Given the description of an element on the screen output the (x, y) to click on. 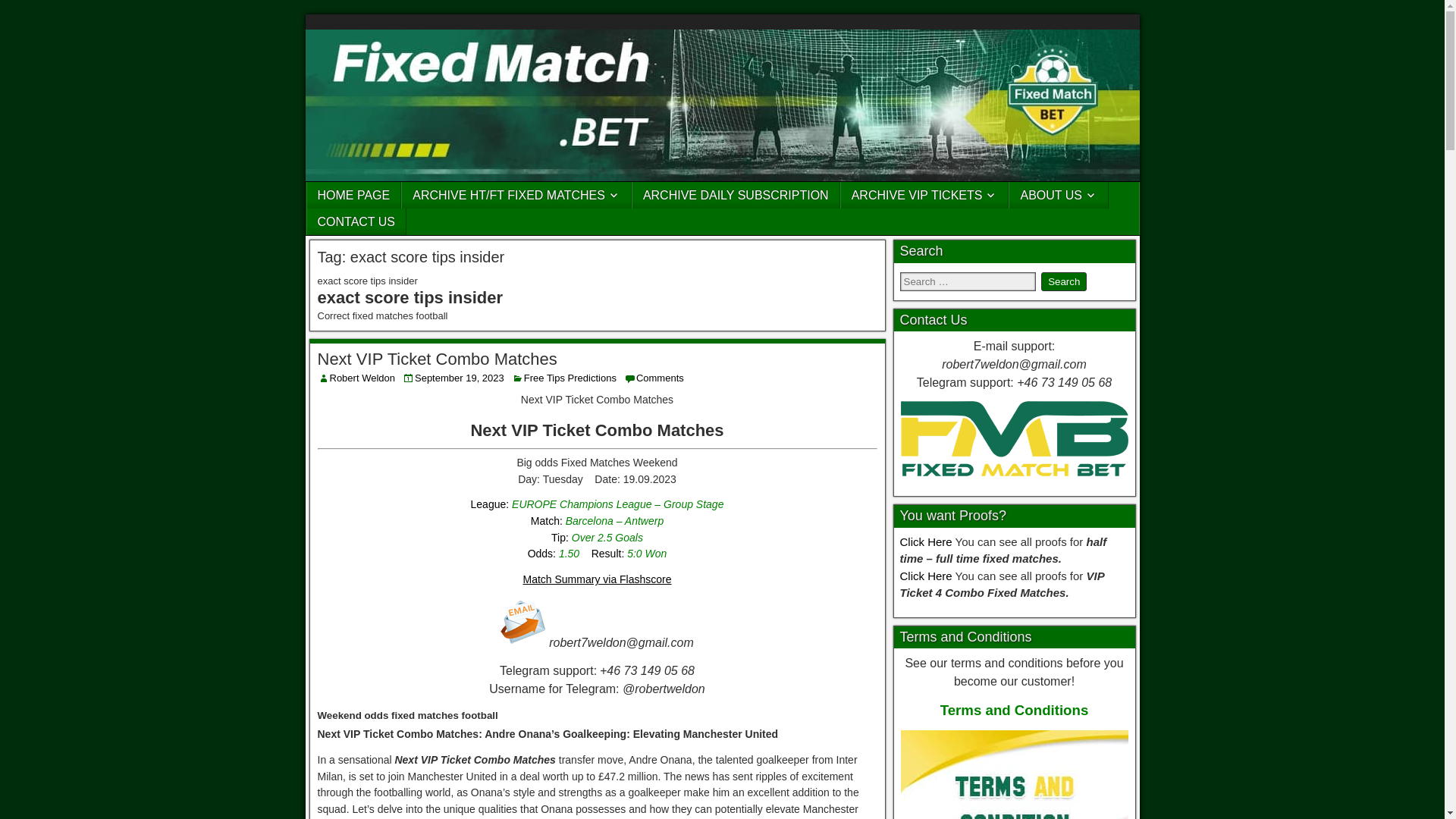
Click Here (925, 575)
ARCHIVE DAILY SUBSCRIPTION (735, 194)
Next VIP Ticket Combo Matches (436, 358)
September 19, 2023 (458, 378)
Comments (660, 378)
ARCHIVE VIP TICKETS (925, 194)
Click Here (925, 541)
Search (1063, 281)
ABOUT US (1058, 194)
Match Summary via Flashscore (596, 579)
